Given the description of an element on the screen output the (x, y) to click on. 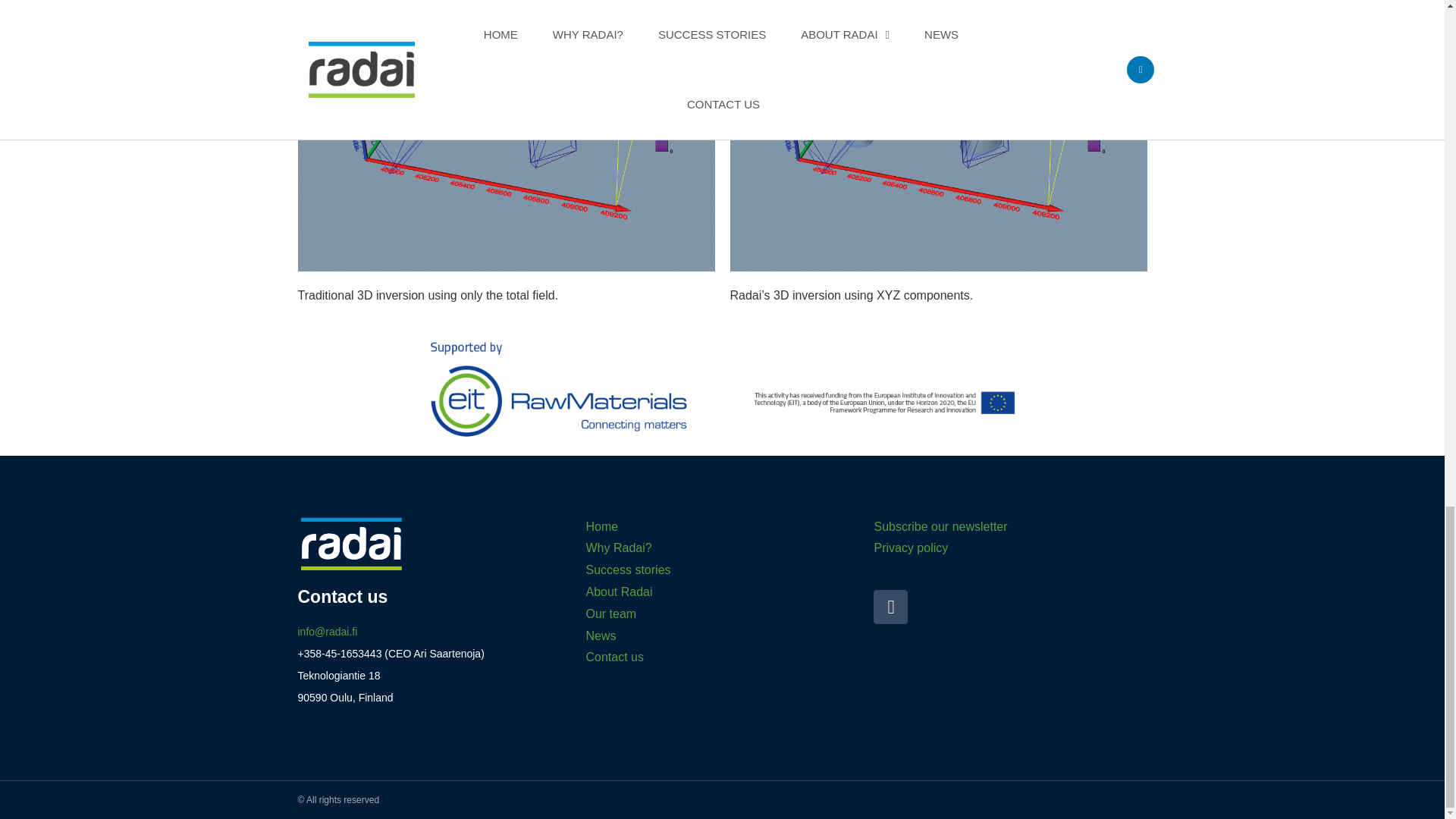
About Radai (618, 591)
Success stories (627, 569)
Home (601, 526)
Our team (610, 613)
News (600, 635)
Why Radai? (617, 547)
